Given the description of an element on the screen output the (x, y) to click on. 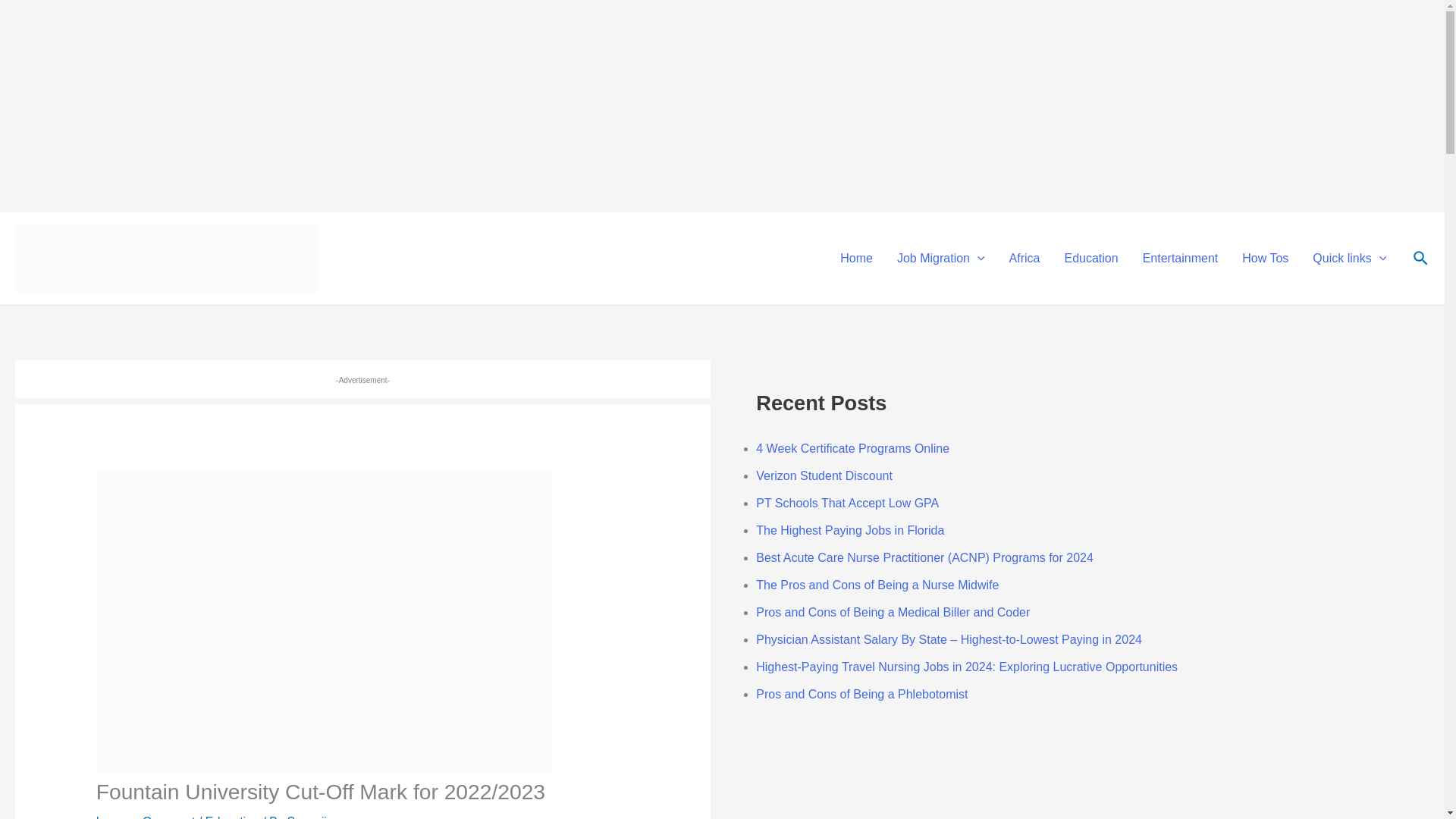
Education (1090, 258)
Africa (1024, 258)
Quick links (1348, 258)
Job Migration (941, 258)
View all posts by Spynaija (309, 816)
Home (856, 258)
How Tos (1265, 258)
Entertainment (1180, 258)
